Given the description of an element on the screen output the (x, y) to click on. 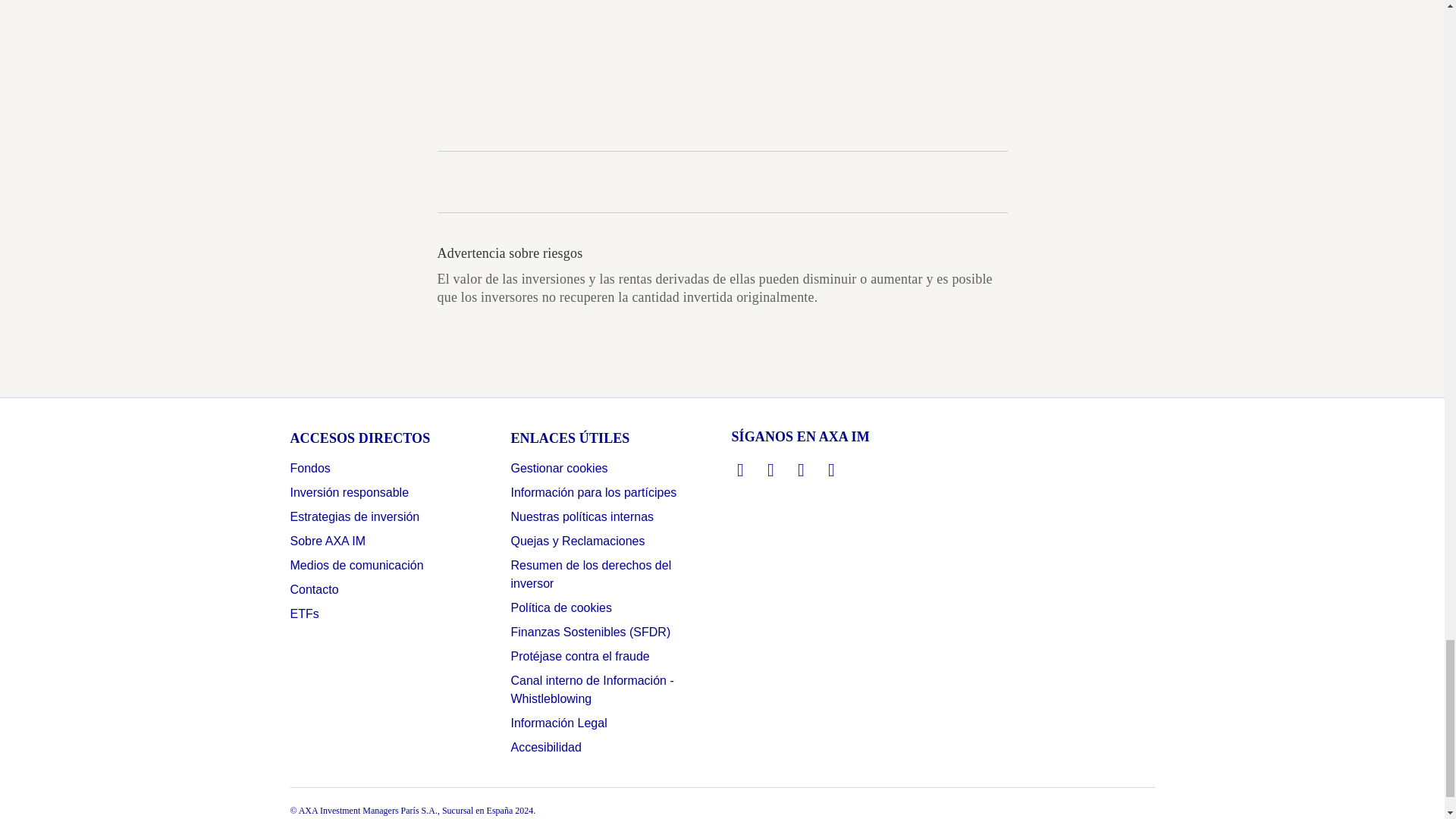
Follow us on Youtube (831, 470)
Follow us on LinkedIn (739, 470)
Follow us on Facebook (800, 470)
Follow us on X (769, 470)
